Given the description of an element on the screen output the (x, y) to click on. 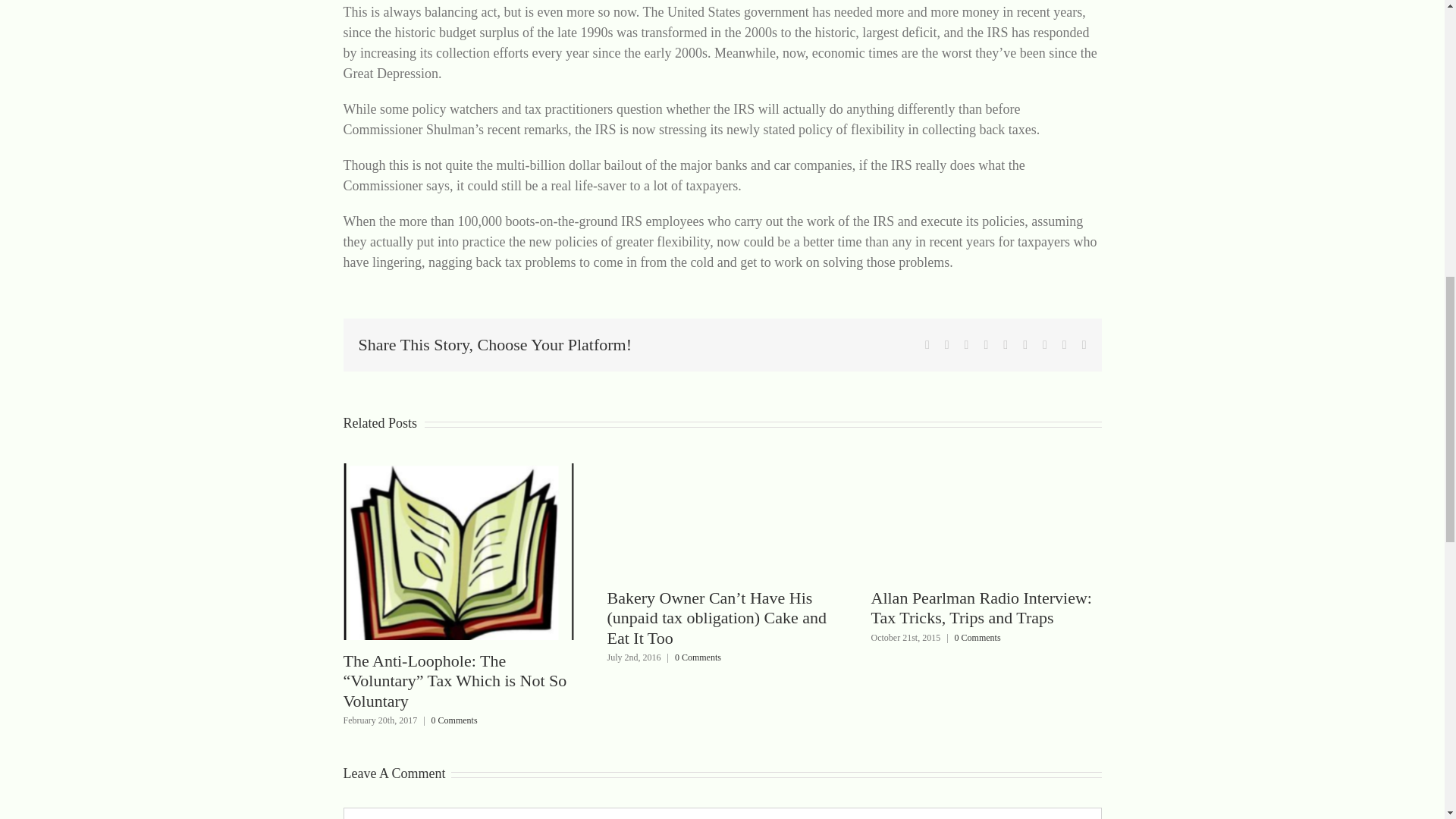
Reddit (966, 345)
Pinterest (1044, 345)
0 Comments (453, 719)
Allan Pearlman Radio Interview: Tax Tricks, Trips and Traps (980, 607)
Email (1083, 345)
WhatsApp (1005, 345)
X (946, 345)
Facebook (927, 345)
Tumblr (1025, 345)
Vk (1064, 345)
LinkedIn (986, 345)
